Given the description of an element on the screen output the (x, y) to click on. 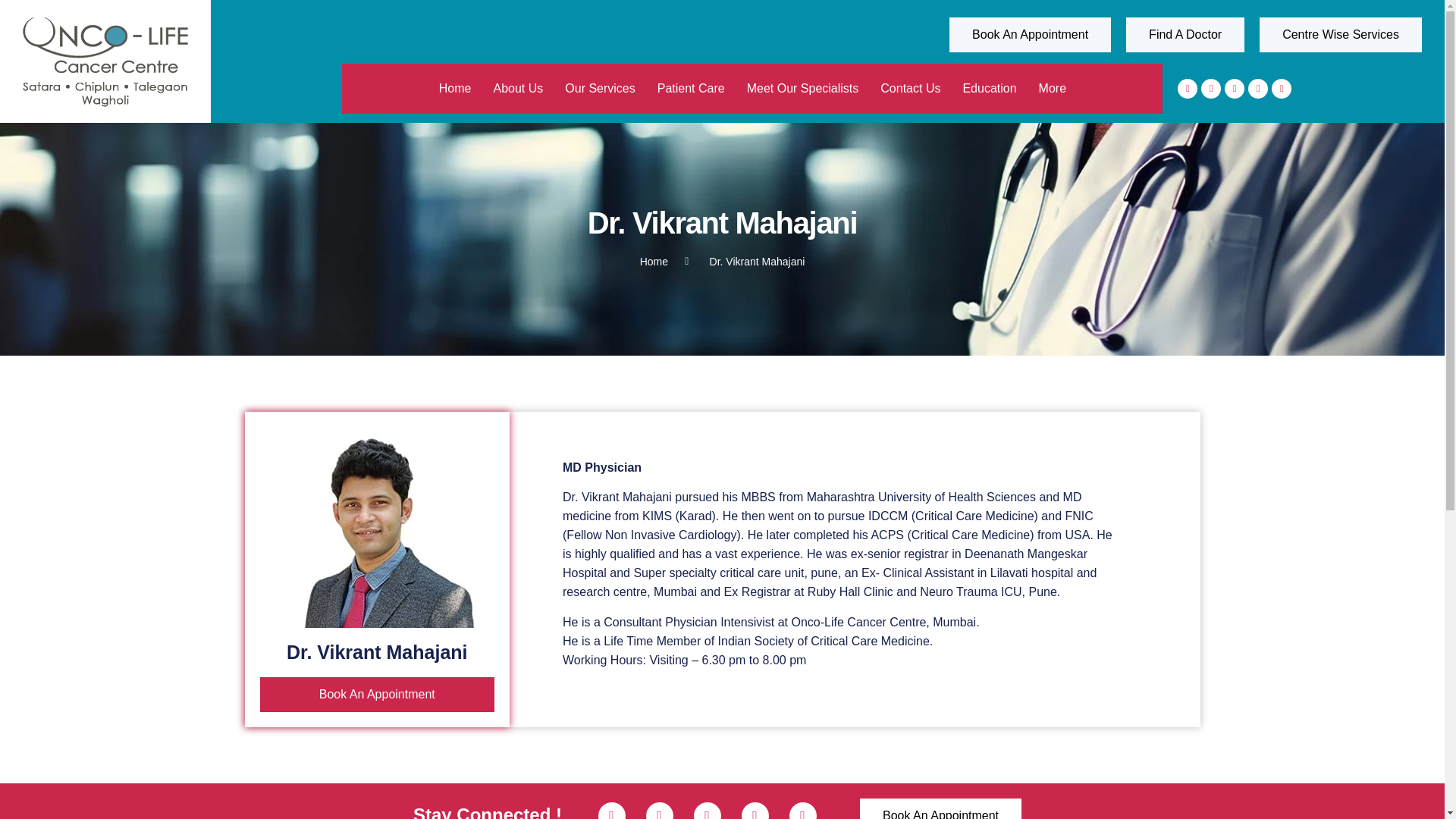
Book An Appointment (1029, 34)
About Us (518, 88)
Centre Wise Services (1340, 34)
Education (989, 88)
Home (455, 88)
Patient Care (691, 88)
Contact Us (910, 88)
Find A Doctor (1184, 34)
Our Services (599, 88)
Meet Our Specialists (802, 88)
